Given the description of an element on the screen output the (x, y) to click on. 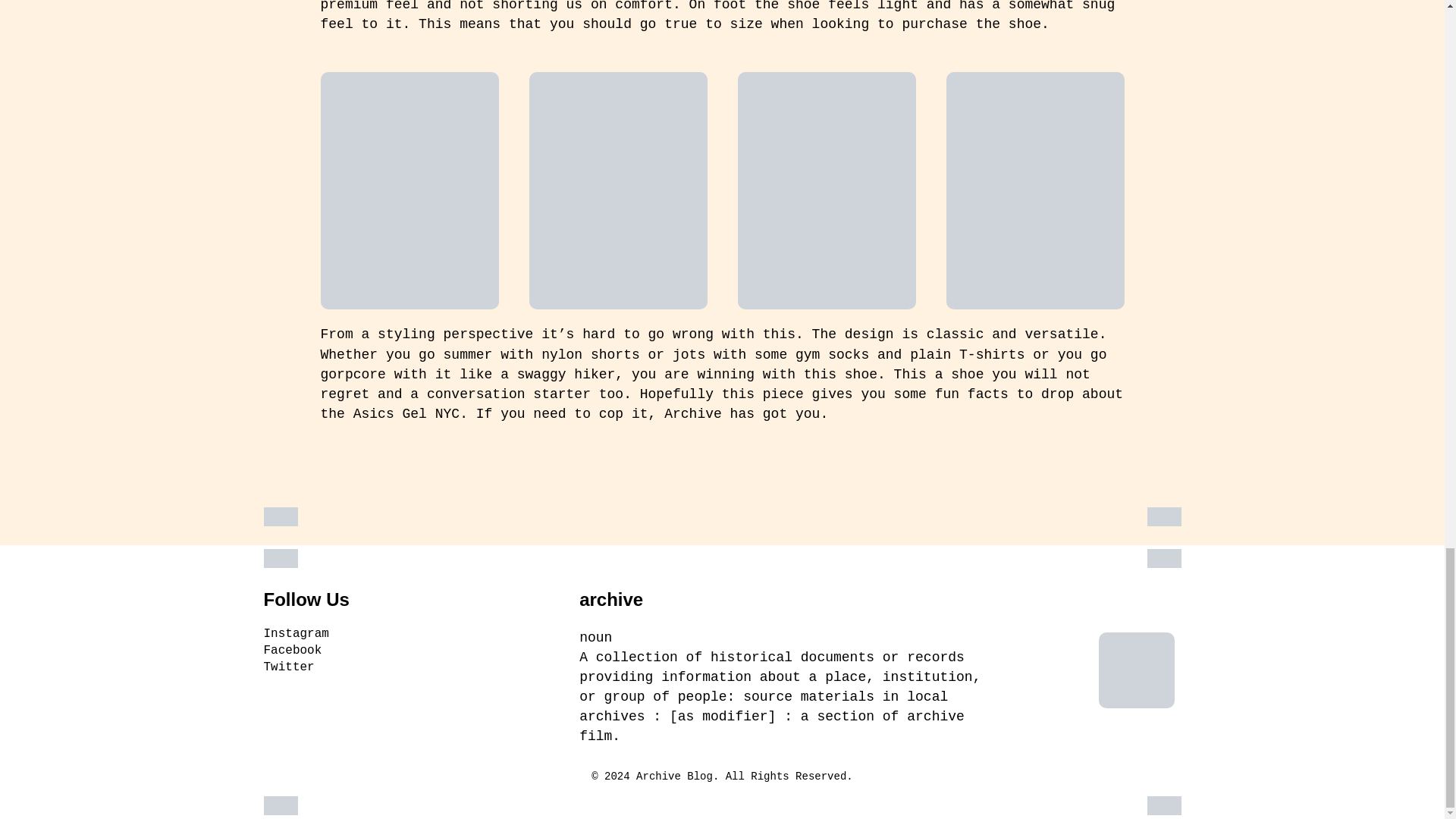
Instagram (406, 635)
Twitter (406, 668)
Facebook (406, 652)
